Given the description of an element on the screen output the (x, y) to click on. 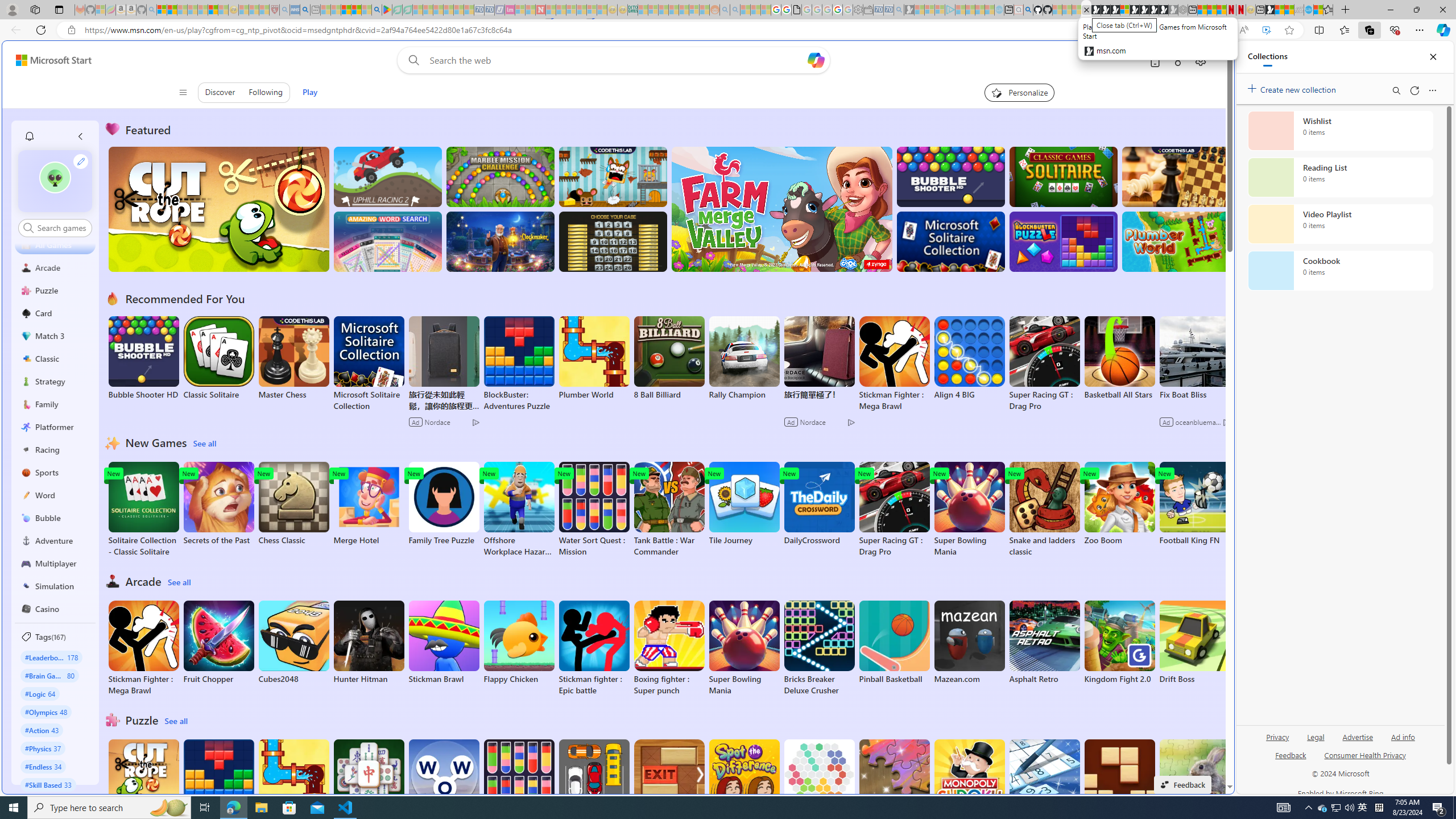
Clockmaker (499, 241)
Boxing fighter : Super punch (668, 648)
#Action 43 (42, 730)
#Logic 64 (39, 693)
Close split screen (1208, 57)
github - Search (1028, 9)
